Given the description of an element on the screen output the (x, y) to click on. 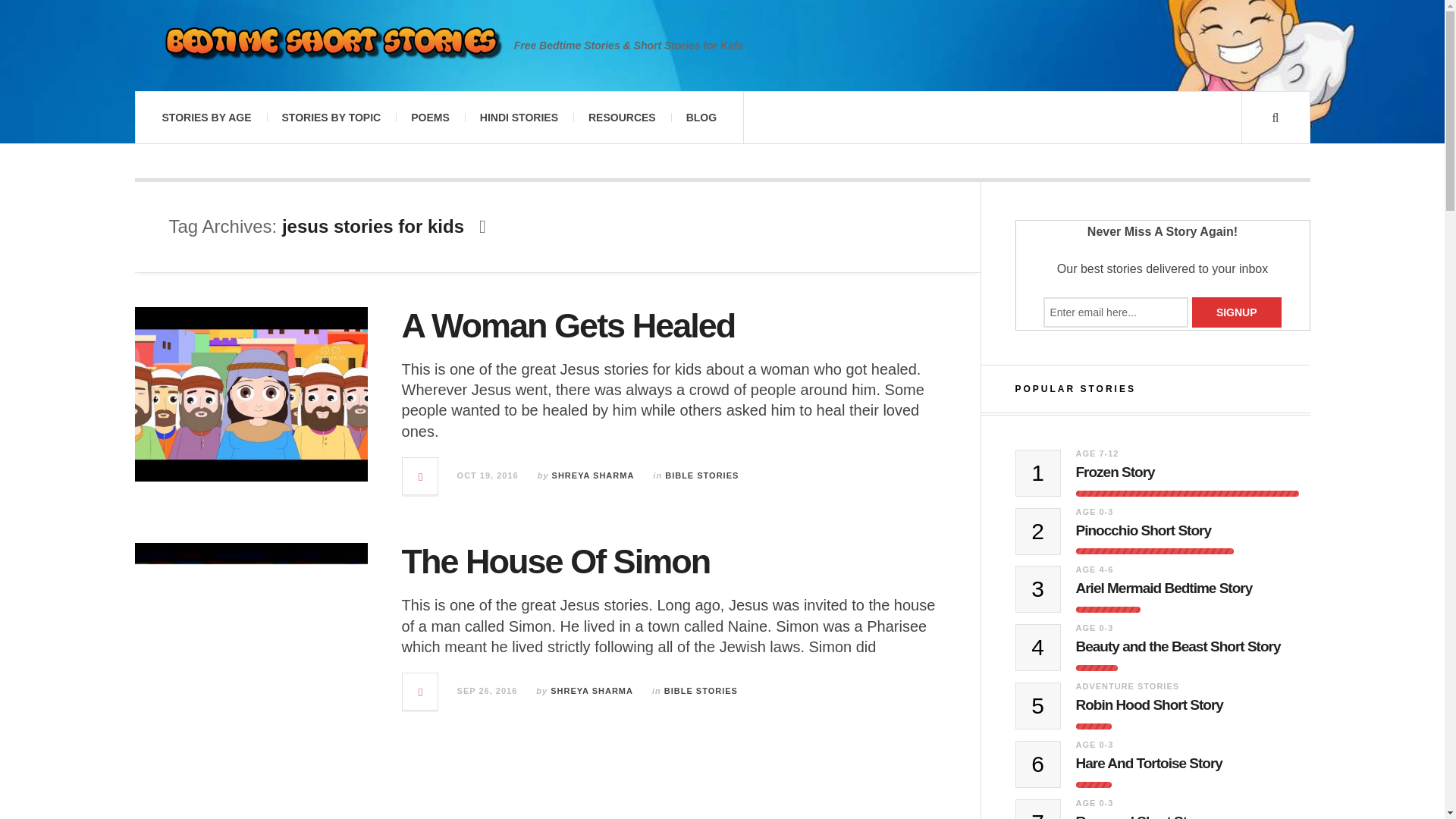
View all posts in Age 0-3 (1094, 511)
RESOURCES (622, 117)
STORIES BY AGE (206, 117)
View all posts in Age 0-3 (1094, 627)
STORIES BY TOPIC (331, 117)
Enter email here... (1115, 312)
Bedtimeshortstories (331, 44)
Posts by Shreya Sharma (591, 690)
BLOG (701, 117)
View all posts in Age 4-6 (1094, 569)
Posts by Shreya Sharma (592, 474)
HINDI STORIES (518, 117)
View all posts in Adventure Stories (1127, 686)
View all posts in Age 0-3 (1094, 744)
POEMS (430, 117)
